Given the description of an element on the screen output the (x, y) to click on. 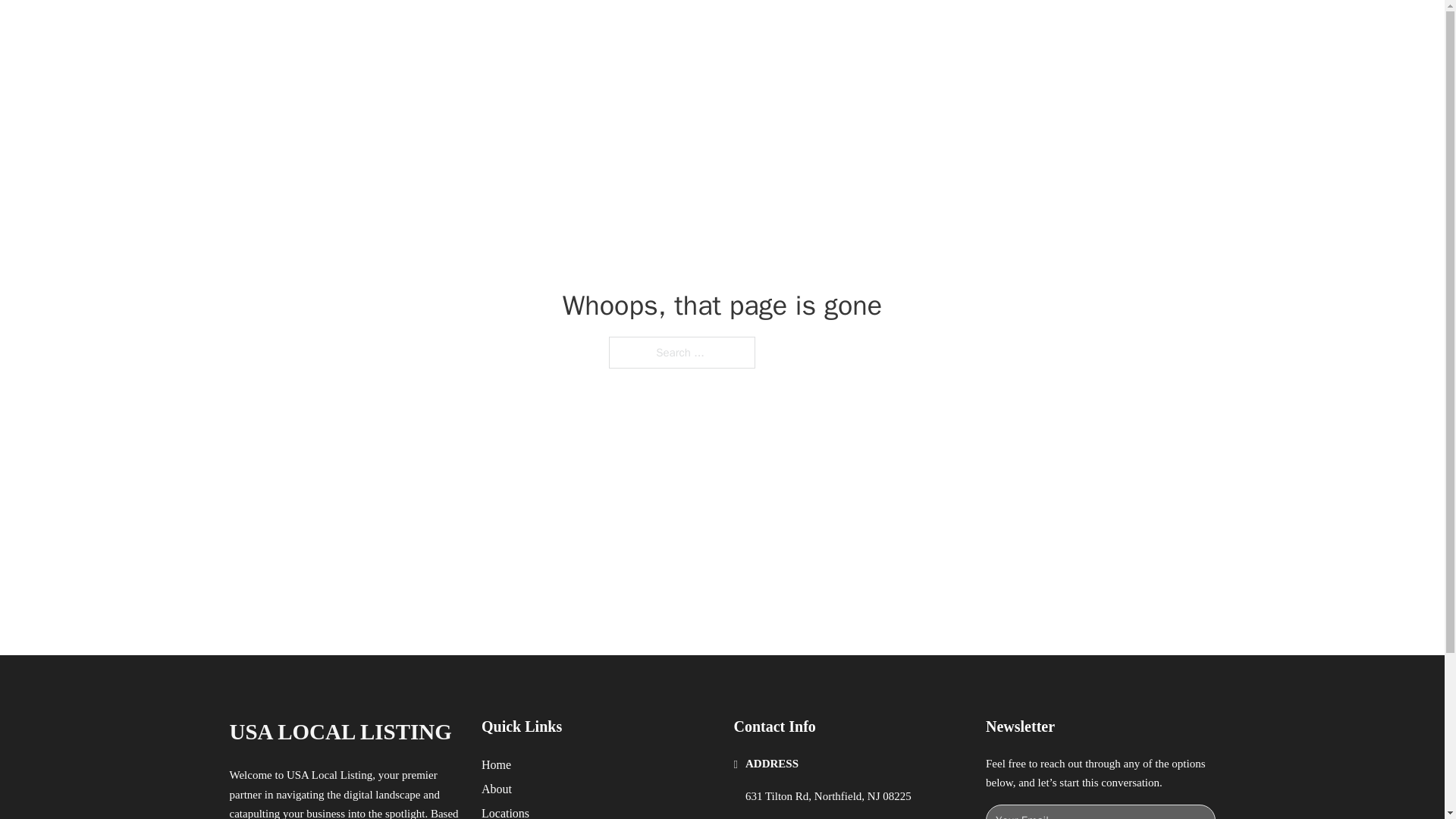
About (496, 788)
HOME (919, 29)
LOCATIONS (990, 29)
Locations (505, 811)
Home (496, 764)
USA LOCAL LISTING (408, 28)
USA LOCAL LISTING (339, 732)
